Given the description of an element on the screen output the (x, y) to click on. 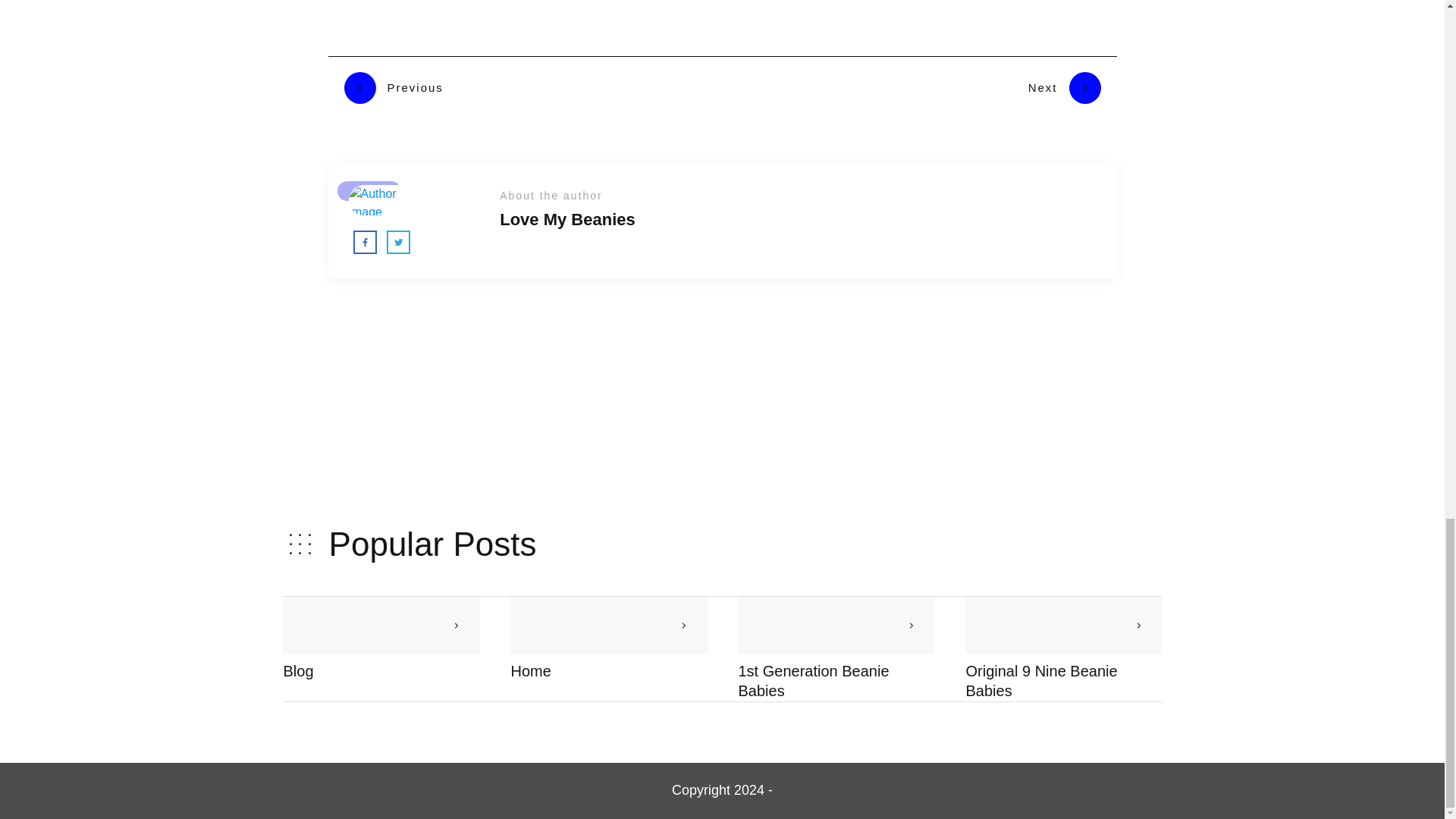
Original 9 Nine Beanie Babies (1042, 680)
Previous (393, 88)
1st Generation Beanie Babies (813, 680)
Blog (298, 670)
Home (531, 670)
Next (1063, 88)
